Given the description of an element on the screen output the (x, y) to click on. 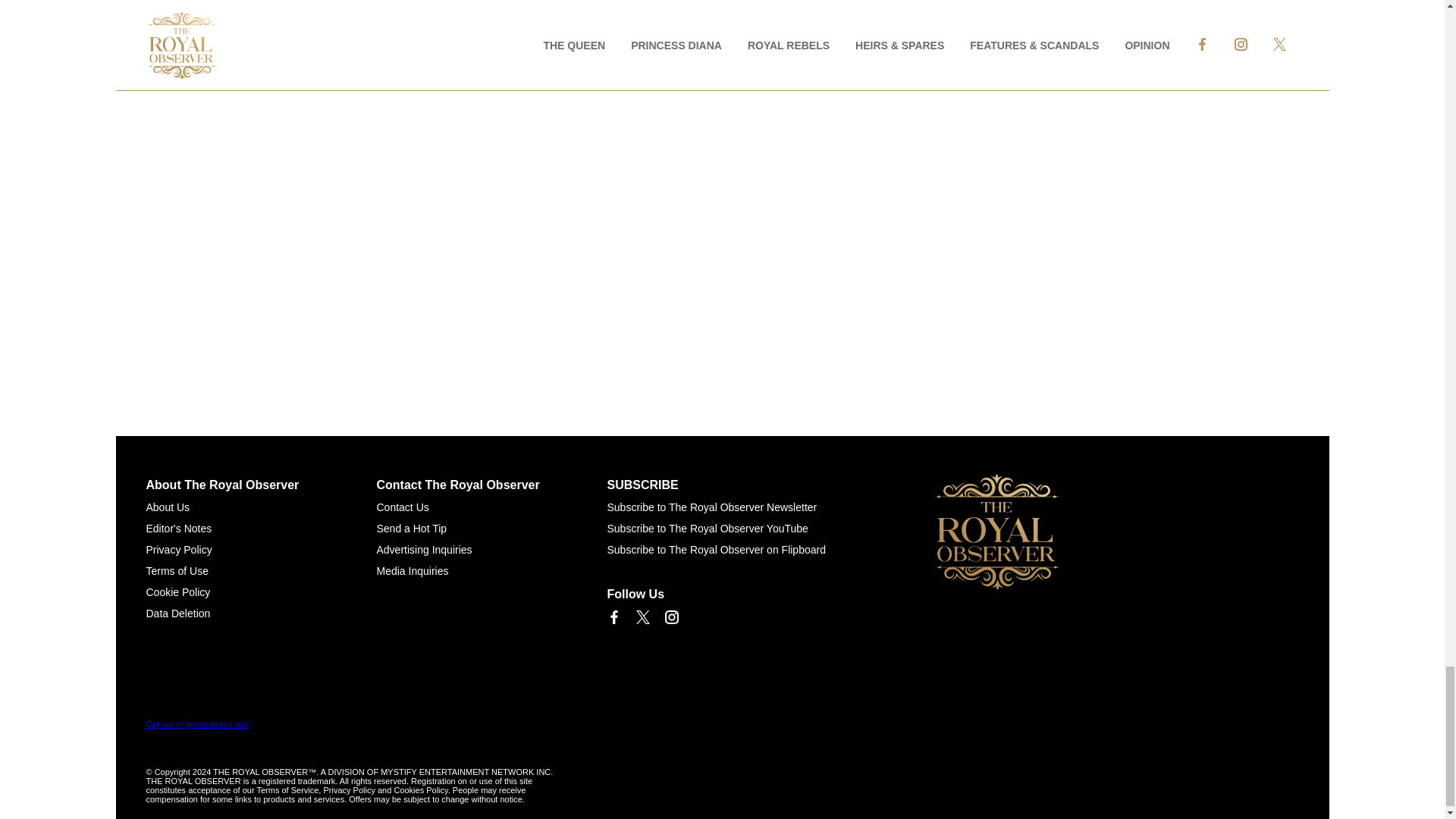
Link to Facebook (613, 617)
About Us (167, 507)
Link to X (641, 617)
Data Deletion (177, 613)
Contact Us (401, 507)
Terms of Use (176, 571)
Editor's Notes (178, 528)
Media Inquiries (411, 571)
Advertising Inquiries (423, 549)
About Us (167, 507)
Privacy Policy (178, 549)
Editor's Notes (178, 528)
Link to Instagram (670, 617)
Privacy Policy (178, 549)
Send a Hot Tip (410, 528)
